Given the description of an element on the screen output the (x, y) to click on. 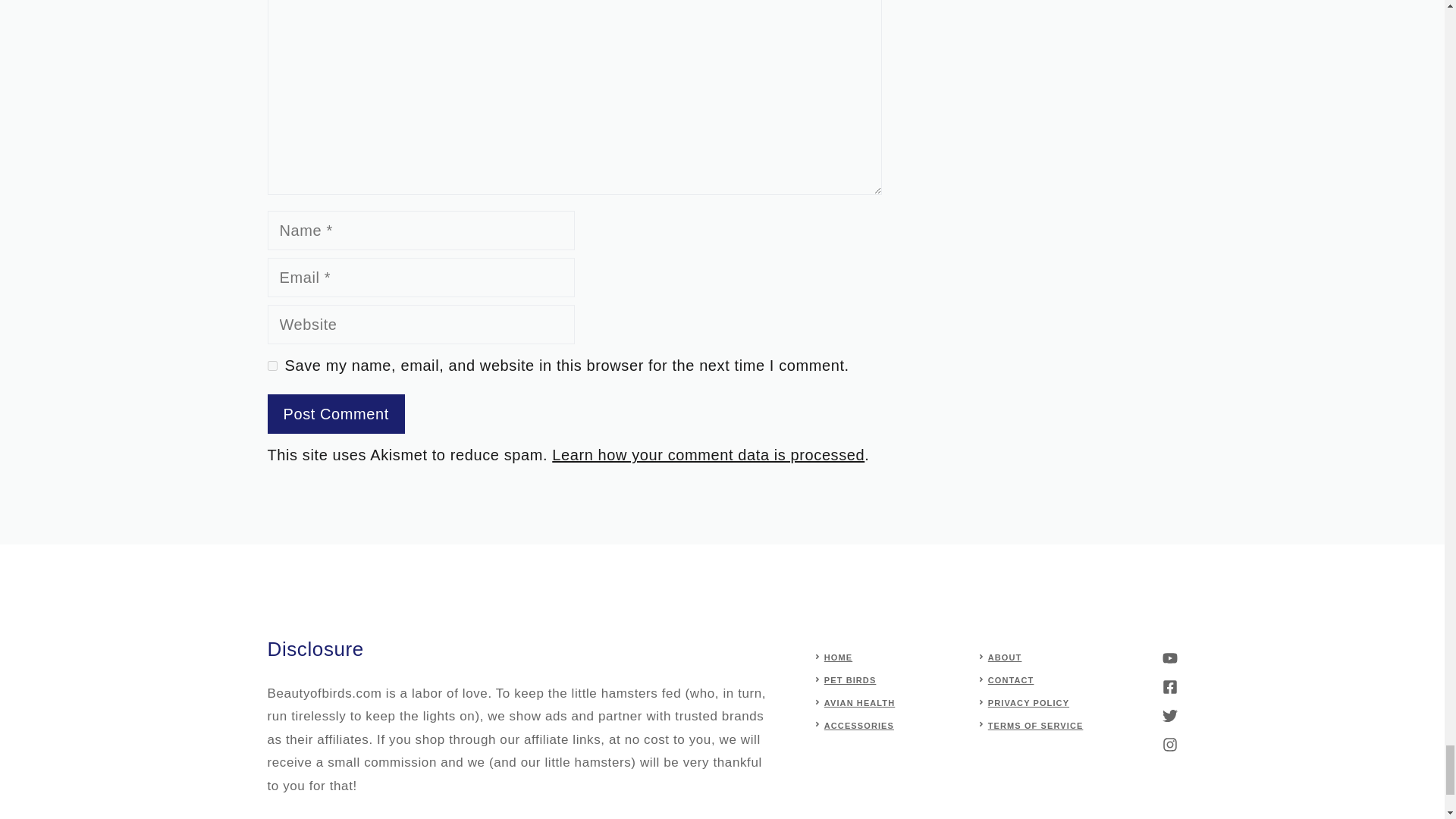
Post Comment (335, 413)
ACCESSORIES (858, 725)
AVIAN HEALTH (859, 702)
Post Comment (335, 413)
CONTACT (1010, 679)
HOME (837, 656)
PRIVACY POLICY (1028, 702)
TERMS OF SERVICE (1035, 725)
ABOUT (1005, 656)
PET BIRDS (850, 679)
